Given the description of an element on the screen output the (x, y) to click on. 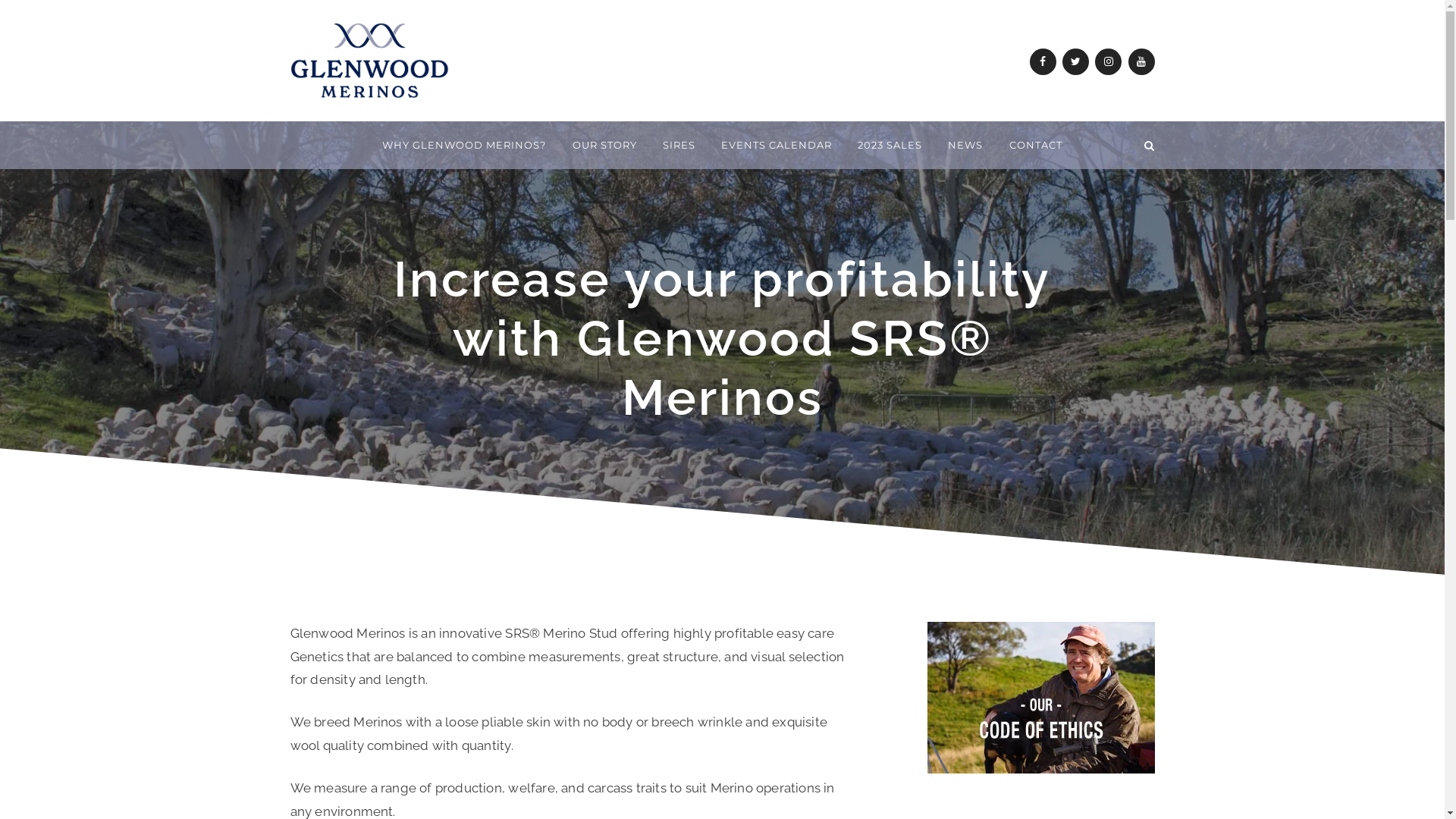
Skip to content Element type: text (289, 120)
NEWS Element type: text (965, 145)
GLENWOOD MERINOS Element type: text (448, 112)
Youtube Element type: text (1141, 61)
EVENTS CALENDAR Element type: text (776, 145)
Search Element type: hover (1148, 145)
CONTACT Element type: text (1035, 145)
SIRES Element type: text (678, 145)
2023 SALES Element type: text (889, 145)
Facebook Element type: text (1042, 61)
OUR STORY Element type: text (604, 145)
Twitter Element type: text (1075, 61)
WHY GLENWOOD MERINOS? Element type: text (463, 145)
Instagram Element type: text (1108, 61)
